Given the description of an element on the screen output the (x, y) to click on. 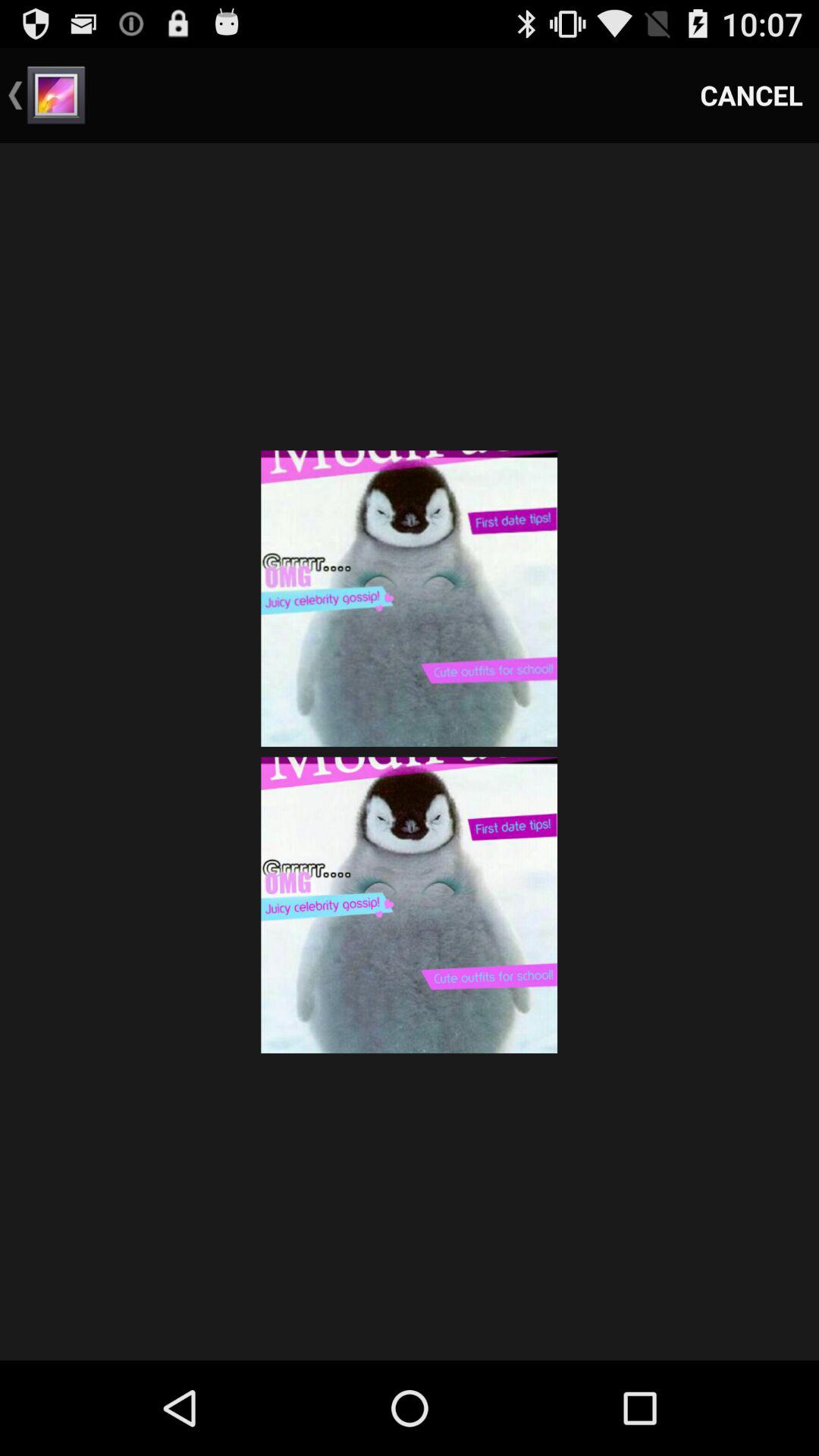
jump until cancel (751, 95)
